Given the description of an element on the screen output the (x, y) to click on. 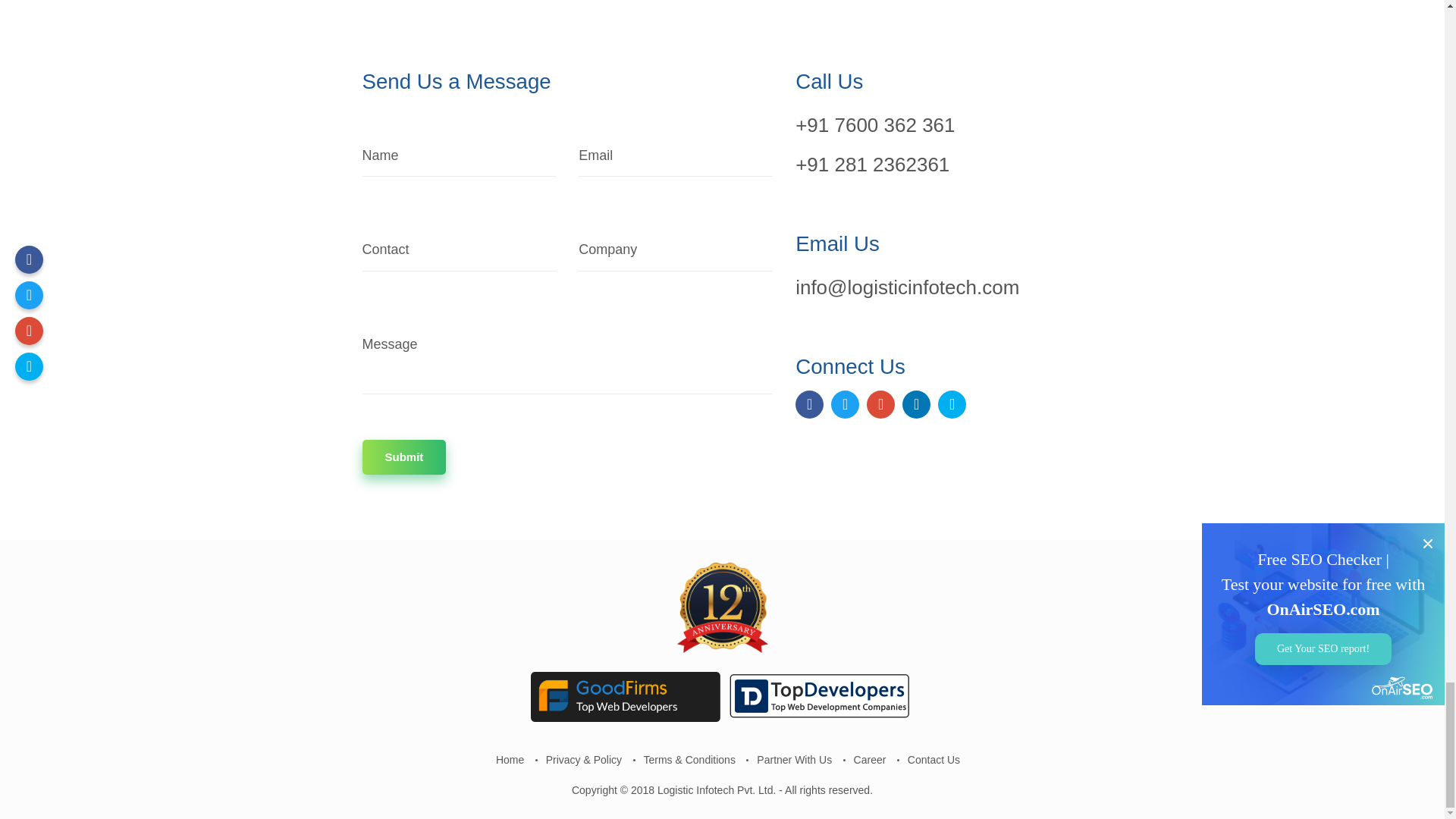
LinkedIn (916, 404)
Facebook (809, 404)
Twitter (845, 404)
